Given the description of an element on the screen output the (x, y) to click on. 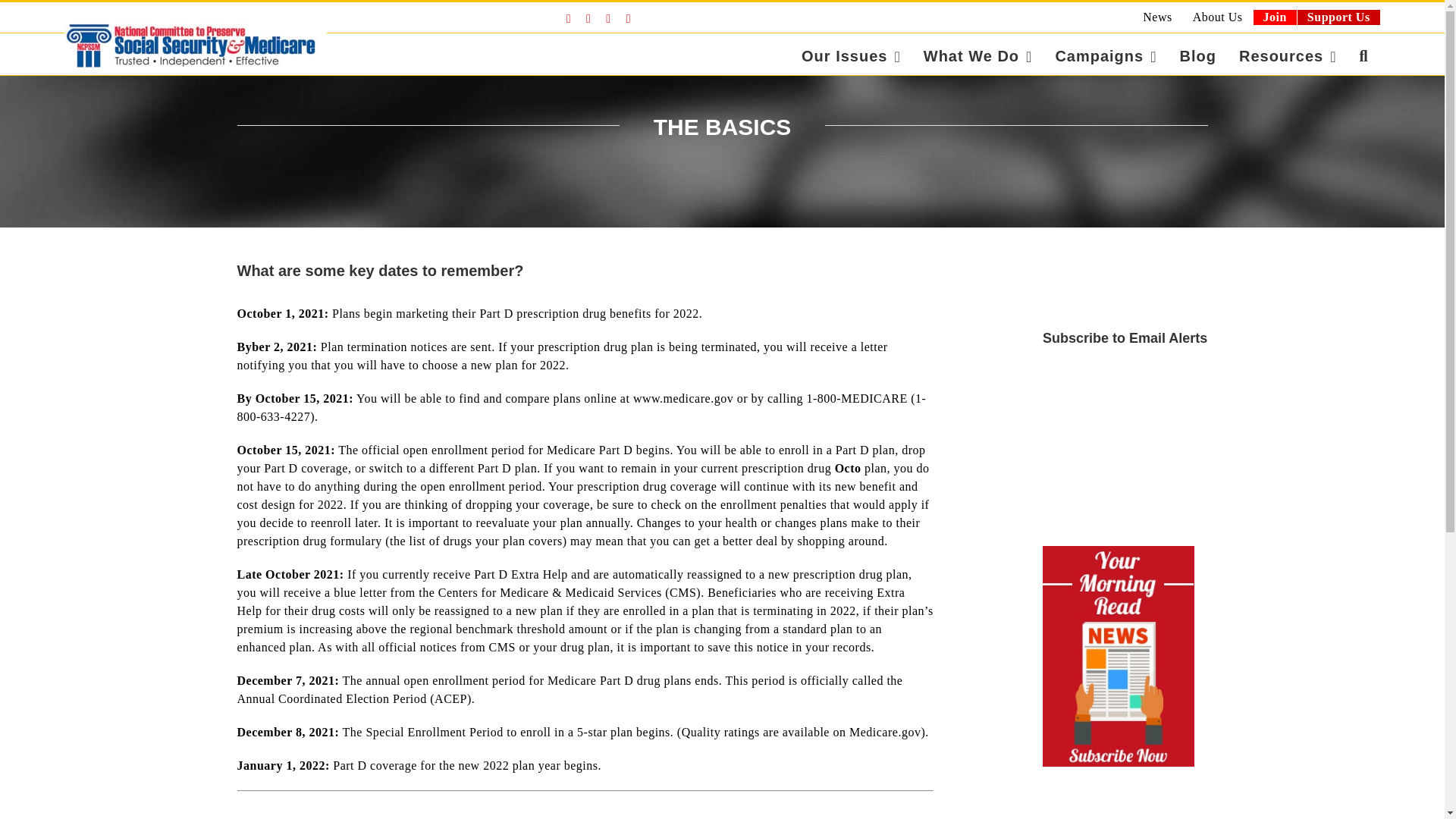
Join (1273, 17)
Resources (1287, 55)
What We Do (977, 55)
Our Issues (851, 55)
News (1156, 17)
Campaigns (1105, 55)
About Us (1217, 17)
Blog (1197, 55)
Support Us (1338, 17)
